Given the description of an element on the screen output the (x, y) to click on. 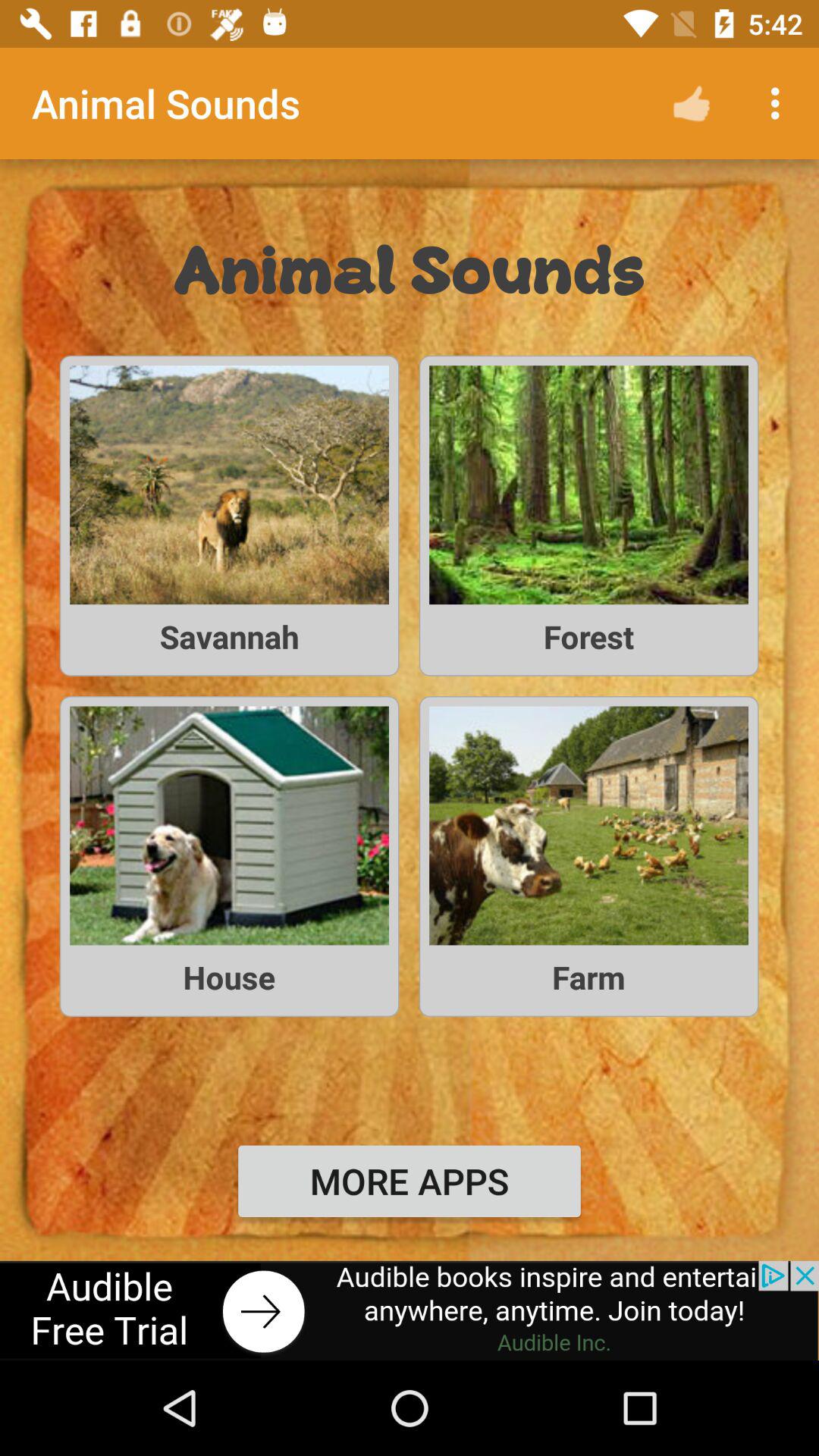
add button (409, 1310)
